Given the description of an element on the screen output the (x, y) to click on. 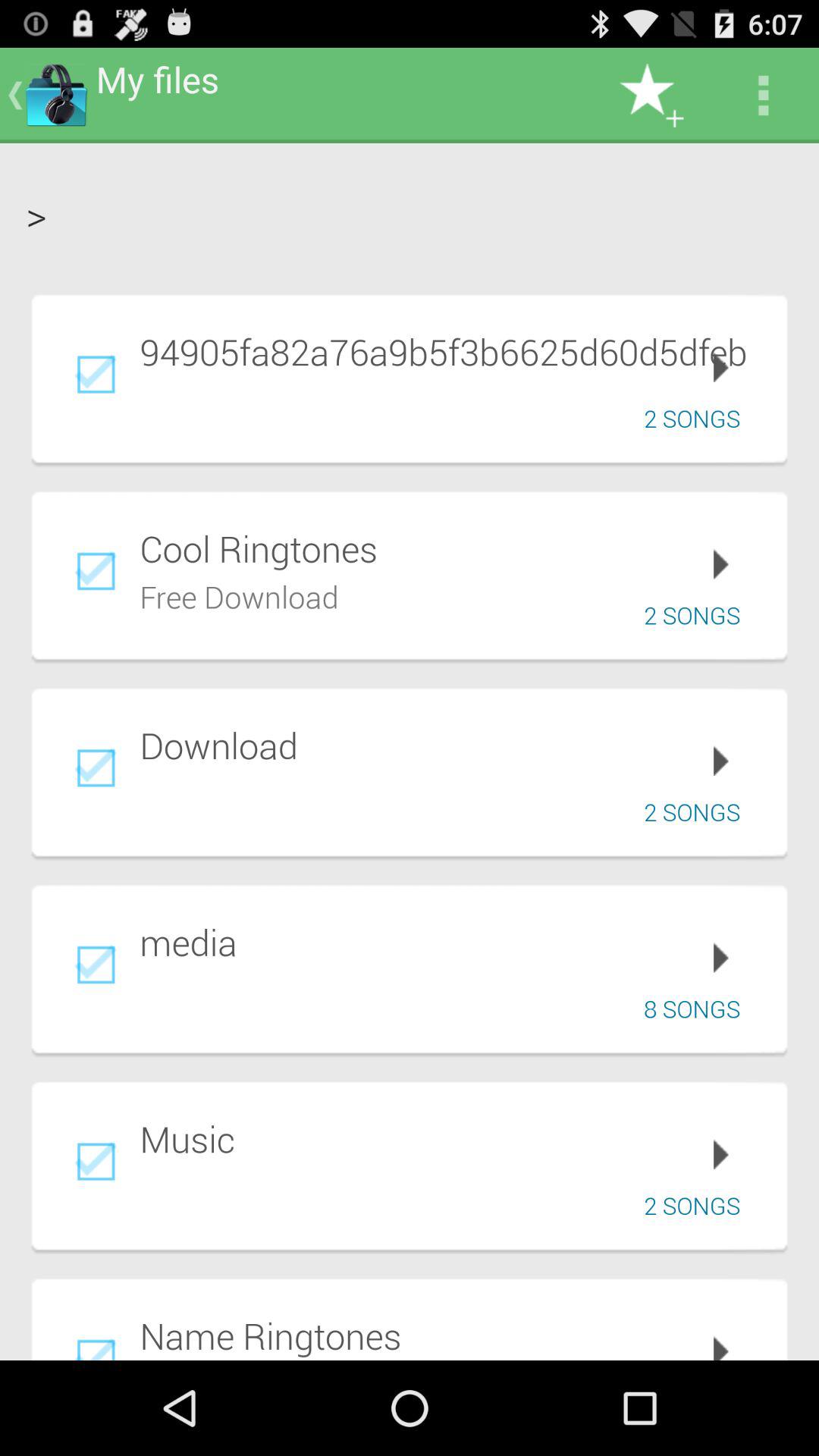
turn off the app above 2 songs app (452, 1138)
